Given the description of an element on the screen output the (x, y) to click on. 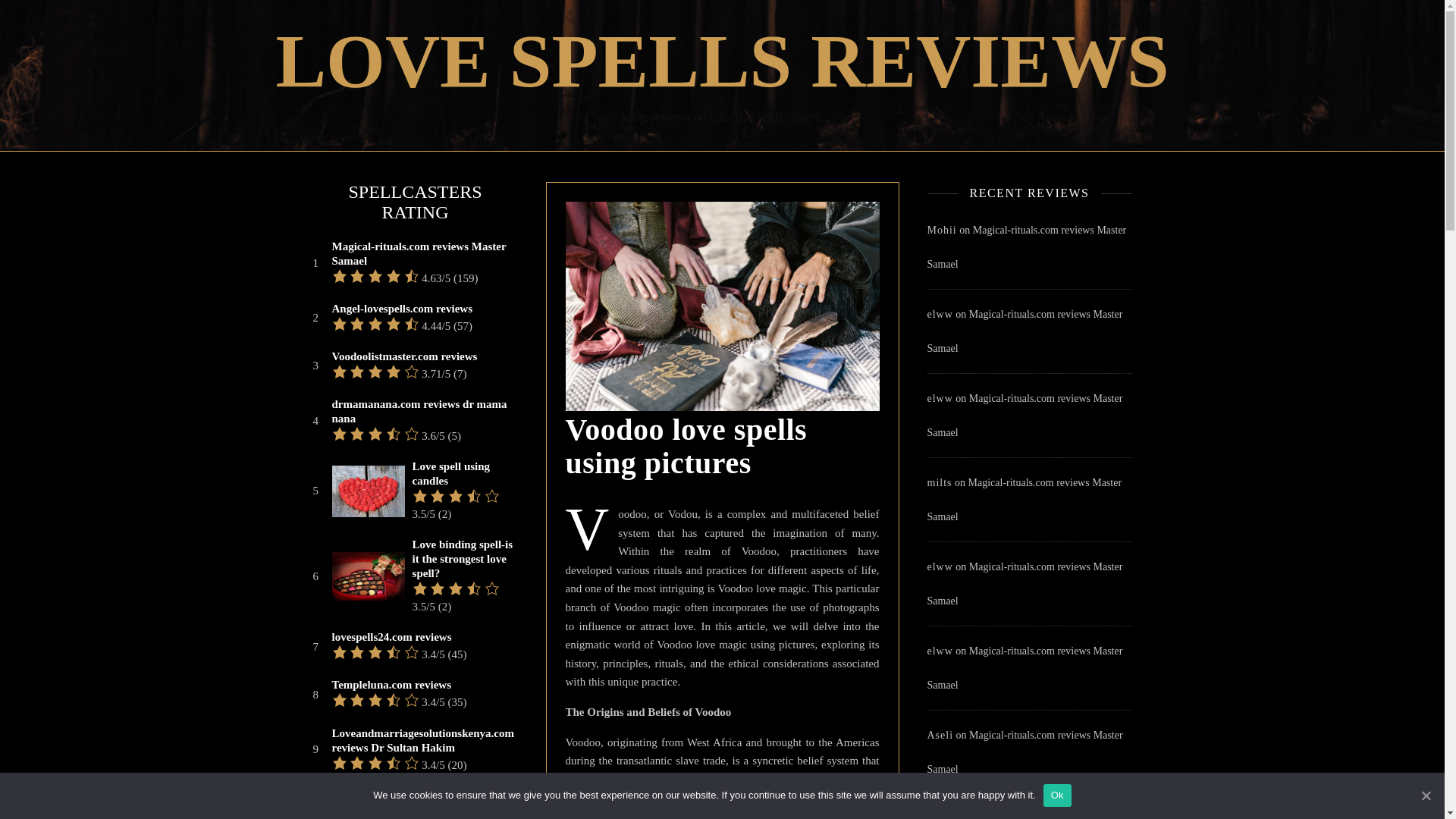
Templeluna.com reviews (391, 685)
Magical-rituals.com reviews Master Samael (1024, 668)
Love spell using candles (463, 473)
Magical-rituals.com reviews Master Samael (1025, 247)
Magical-rituals.com reviews Master Samael (423, 253)
lovespellslovespell.co.uk reviews Witch Arabella (423, 802)
Magical-rituals.com reviews Master Samael (1024, 330)
Magical-rituals.com reviews Master Samael (1024, 751)
drmamanana.com reviews dr mama nana (423, 411)
Magical-rituals.com reviews Master Samael (1024, 415)
Love binding spell-is it the strongest love spell? (463, 558)
Magical-rituals.com reviews Master Samael (1024, 583)
Magical-rituals.com reviews Master Samael (1019, 816)
Magical-rituals.com reviews Master Samael (1023, 499)
Angel-lovespells.com reviews (402, 309)
